Given the description of an element on the screen output the (x, y) to click on. 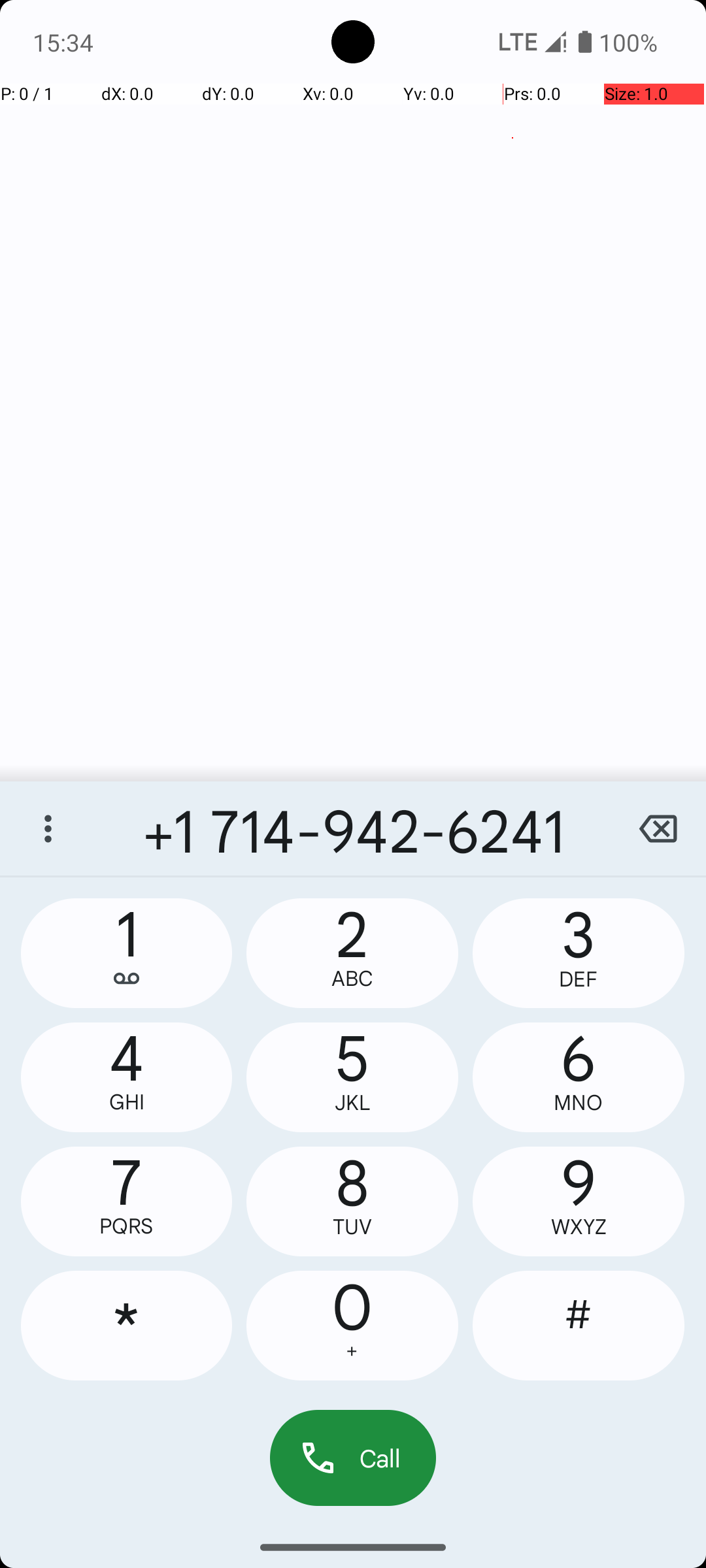
+1 714-942-6241 Element type: android.widget.EditText (352, 828)
